Given the description of an element on the screen output the (x, y) to click on. 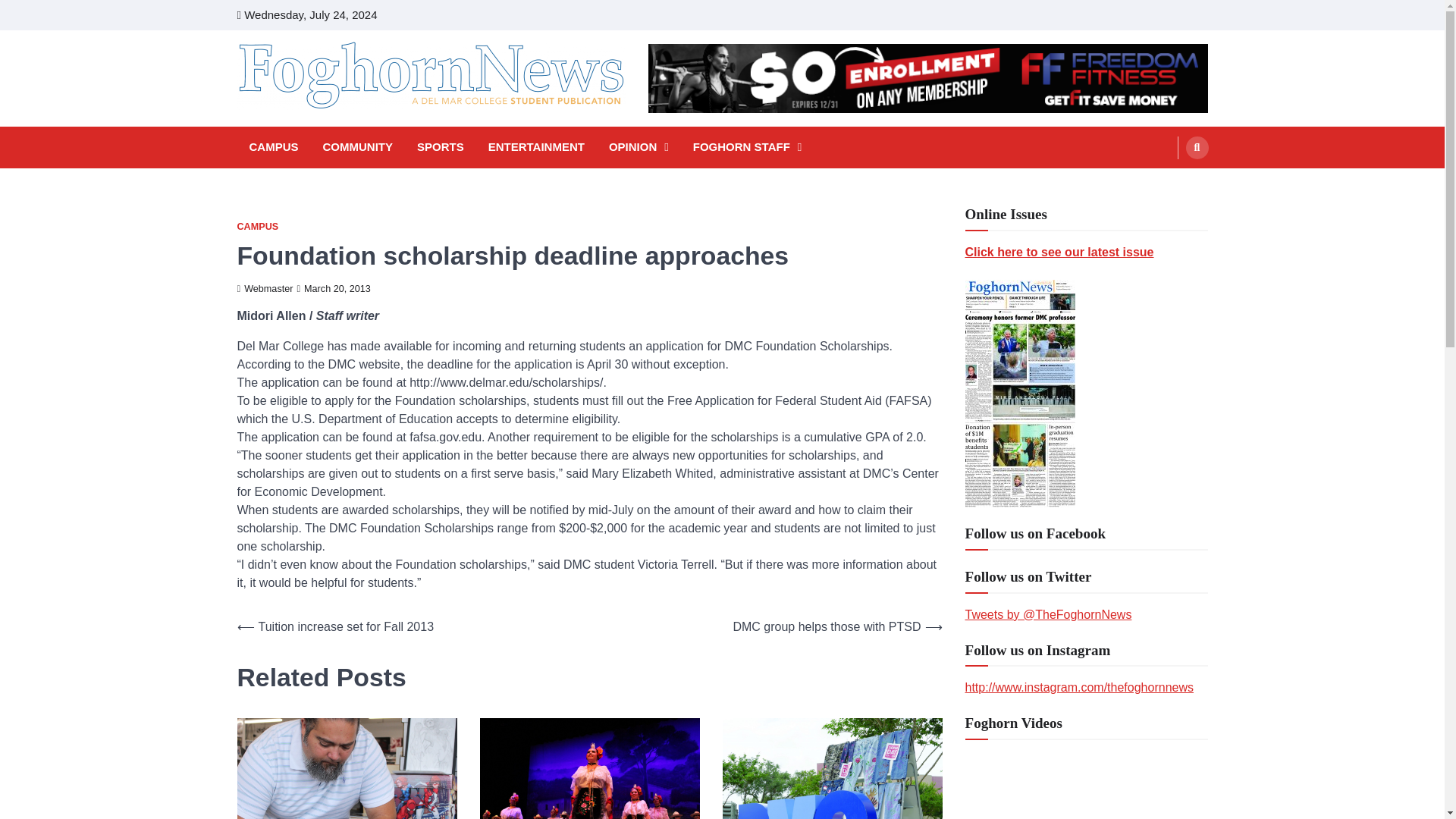
OPINION (638, 147)
FOGHORN NEWS (342, 130)
CAMPUS (273, 147)
FOGHORN STAFF (747, 147)
CAMPUS (256, 226)
Webmaster (263, 288)
COMMUNITY (357, 147)
SPORTS (440, 147)
Search (1168, 183)
March 20, 2013 (333, 288)
Click here to see our latest issue (1058, 251)
Search (1197, 147)
ENTERTAINMENT (536, 147)
